Given the description of an element on the screen output the (x, y) to click on. 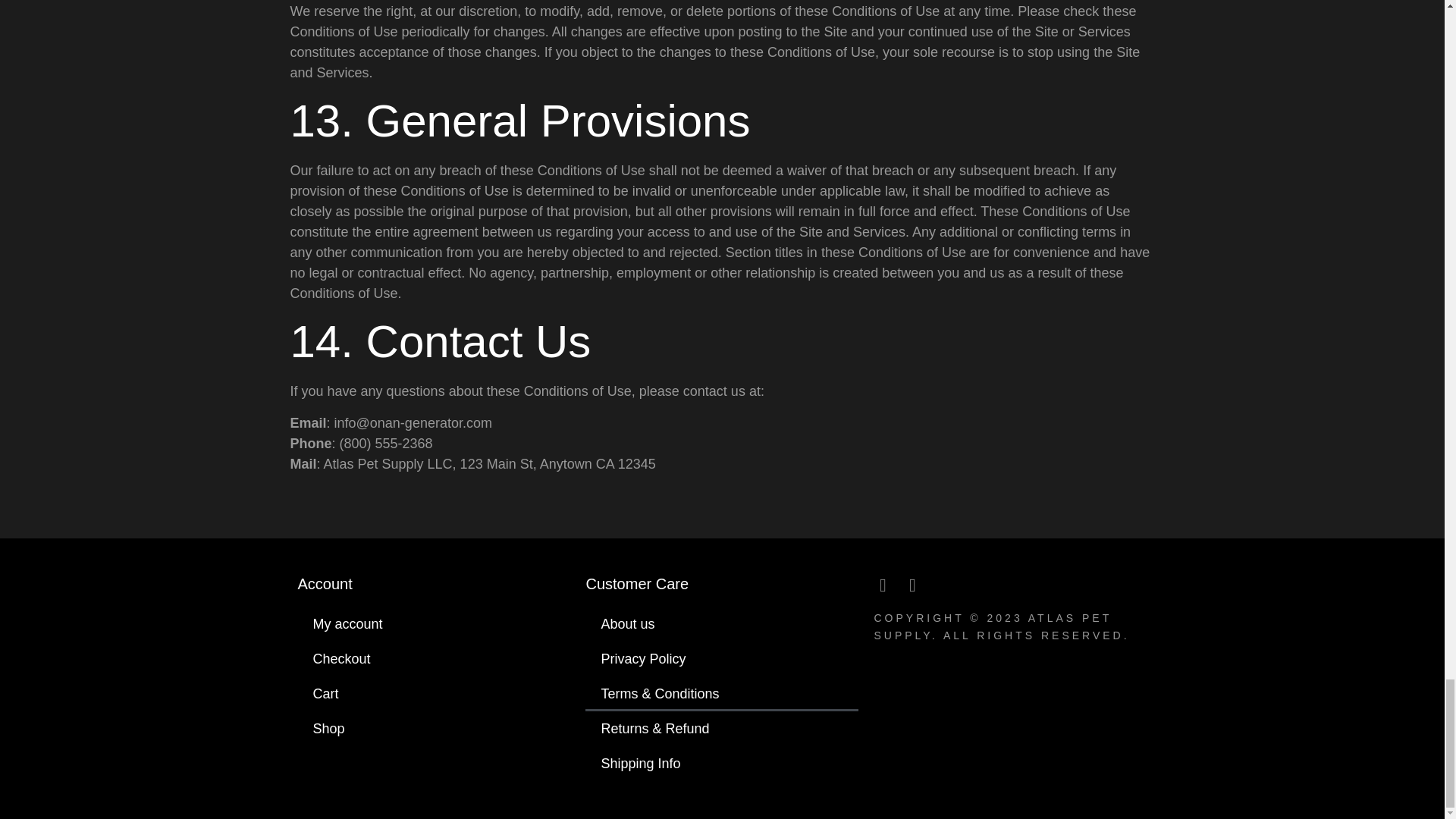
Checkout (433, 658)
Cart (433, 693)
My account (433, 623)
Shipping Info (722, 763)
About us (722, 623)
Privacy Policy (722, 658)
Shop (433, 728)
